Given the description of an element on the screen output the (x, y) to click on. 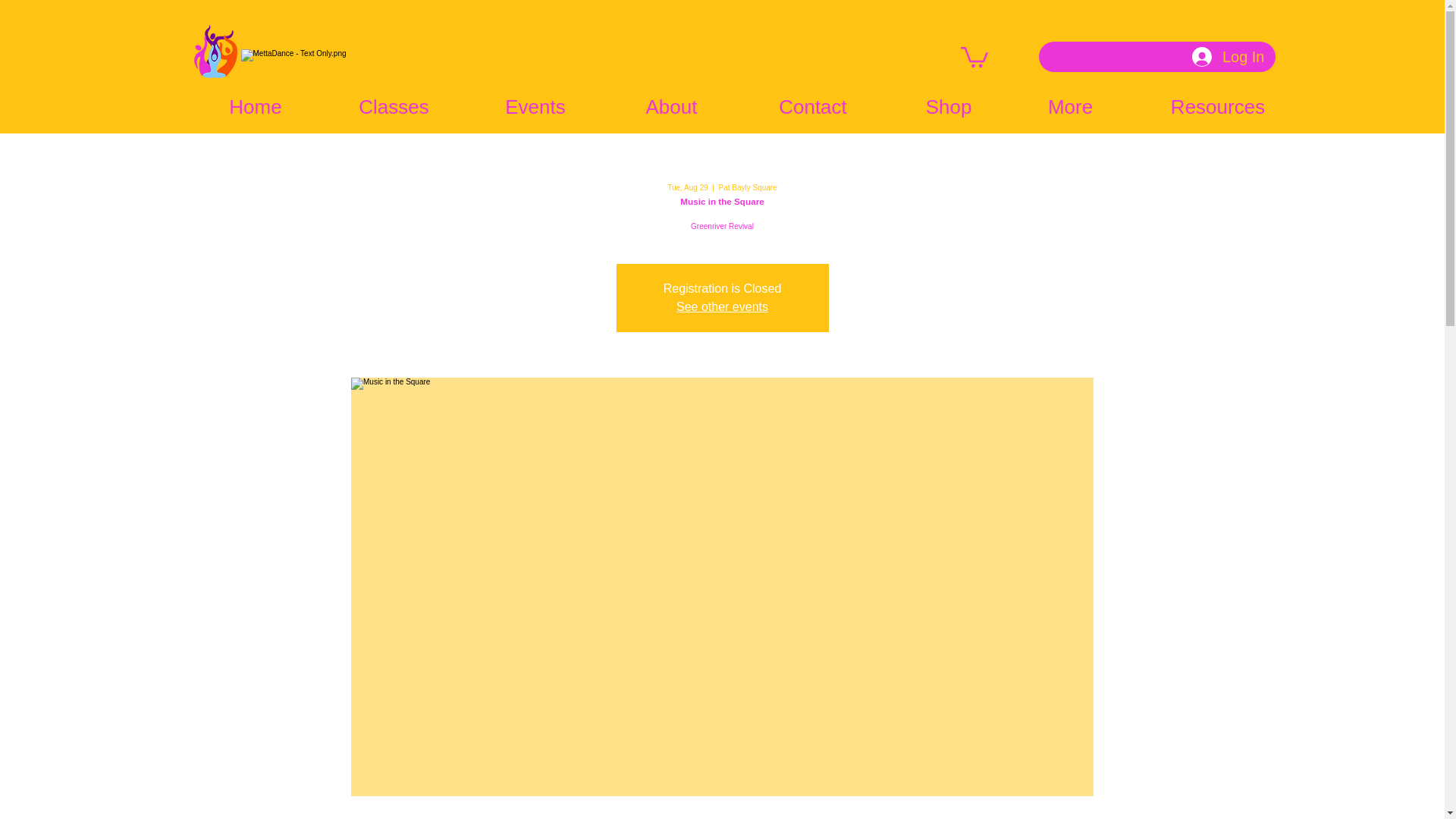
See other events (722, 306)
About (671, 106)
More (1070, 106)
Log In (1227, 56)
Resources (1217, 106)
Contact (813, 106)
Home (255, 106)
Events (534, 106)
Classes (393, 106)
Shop (947, 106)
